Given the description of an element on the screen output the (x, y) to click on. 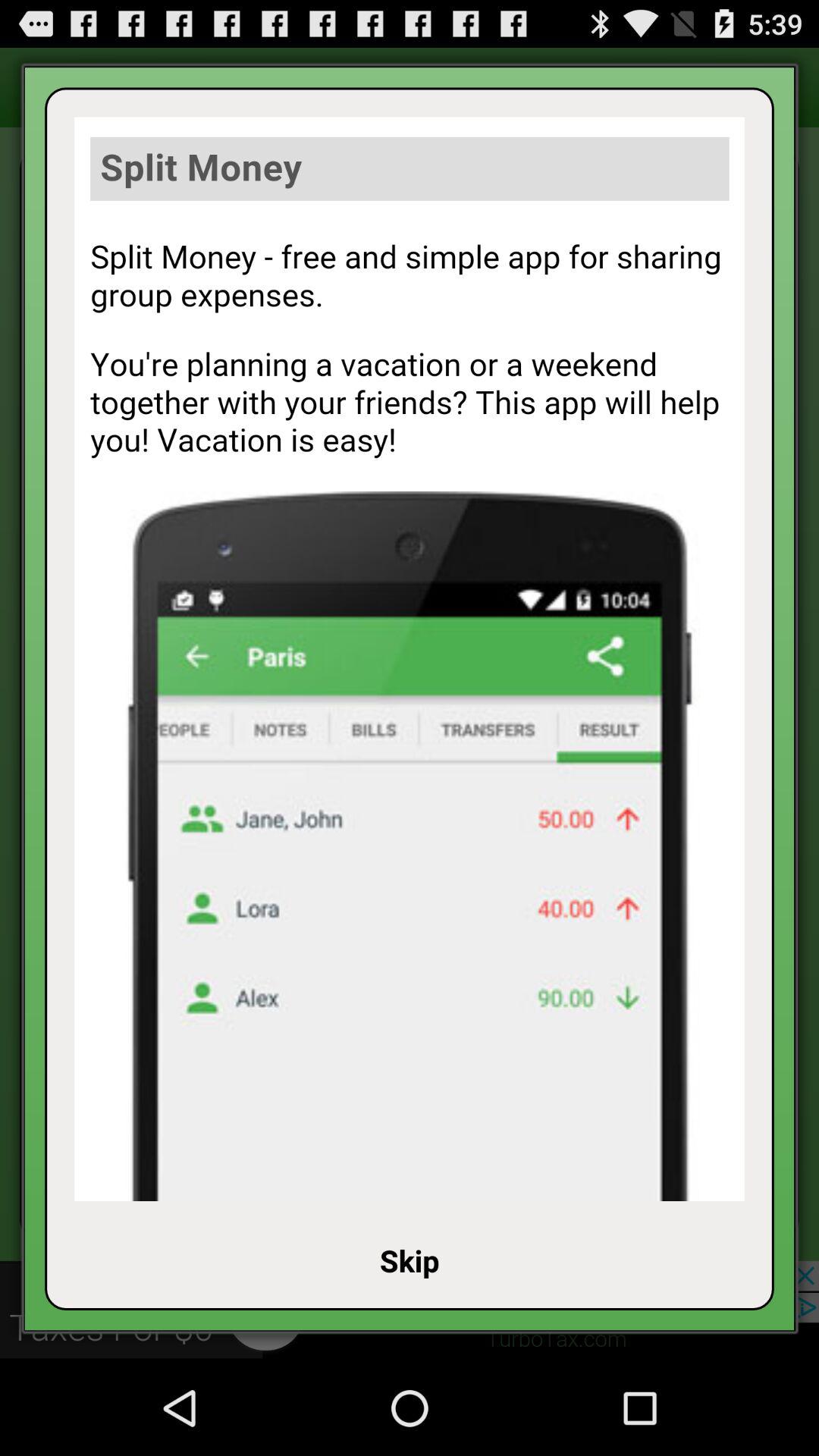
t (409, 659)
